Given the description of an element on the screen output the (x, y) to click on. 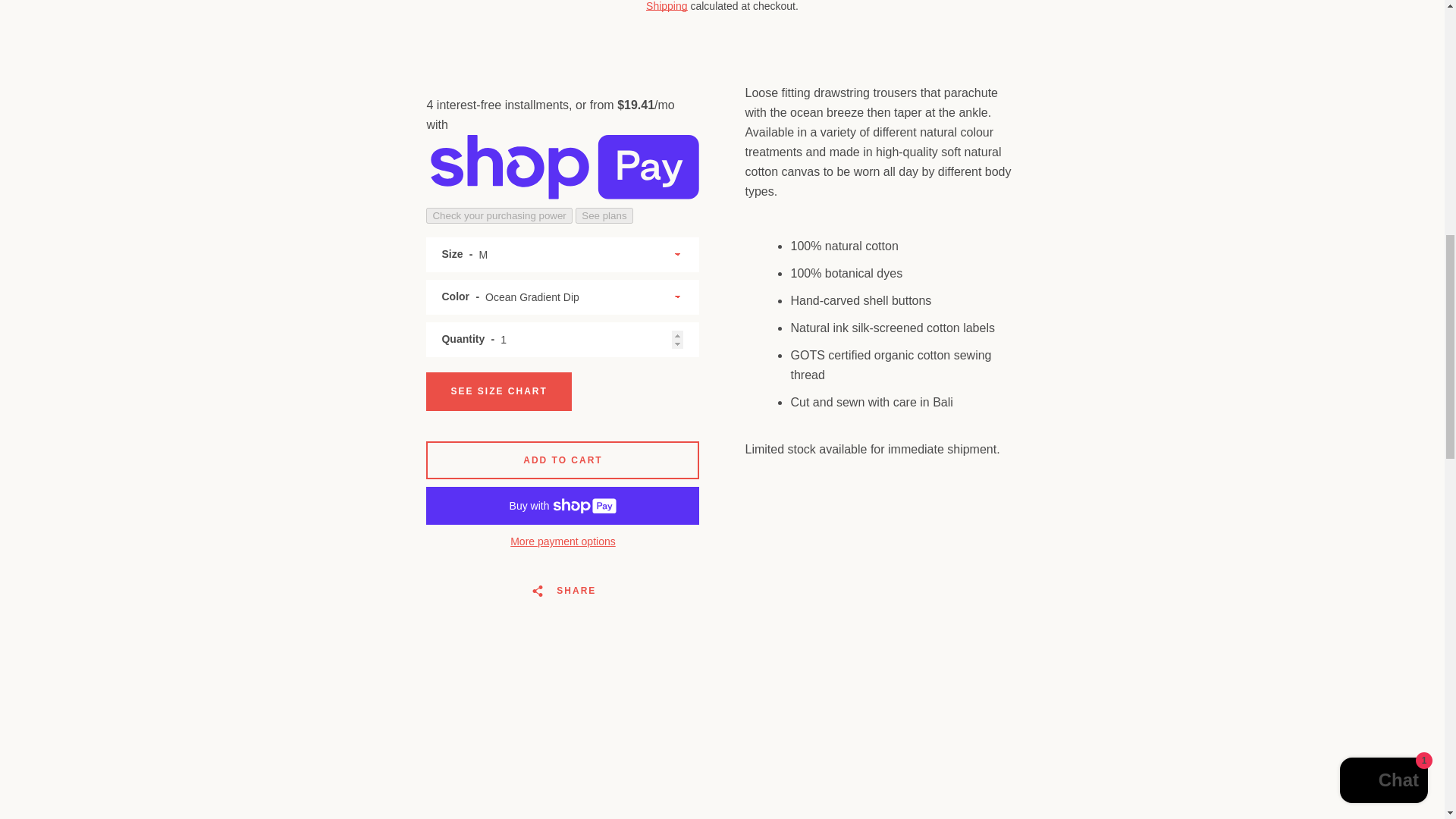
1 (562, 339)
